Given the description of an element on the screen output the (x, y) to click on. 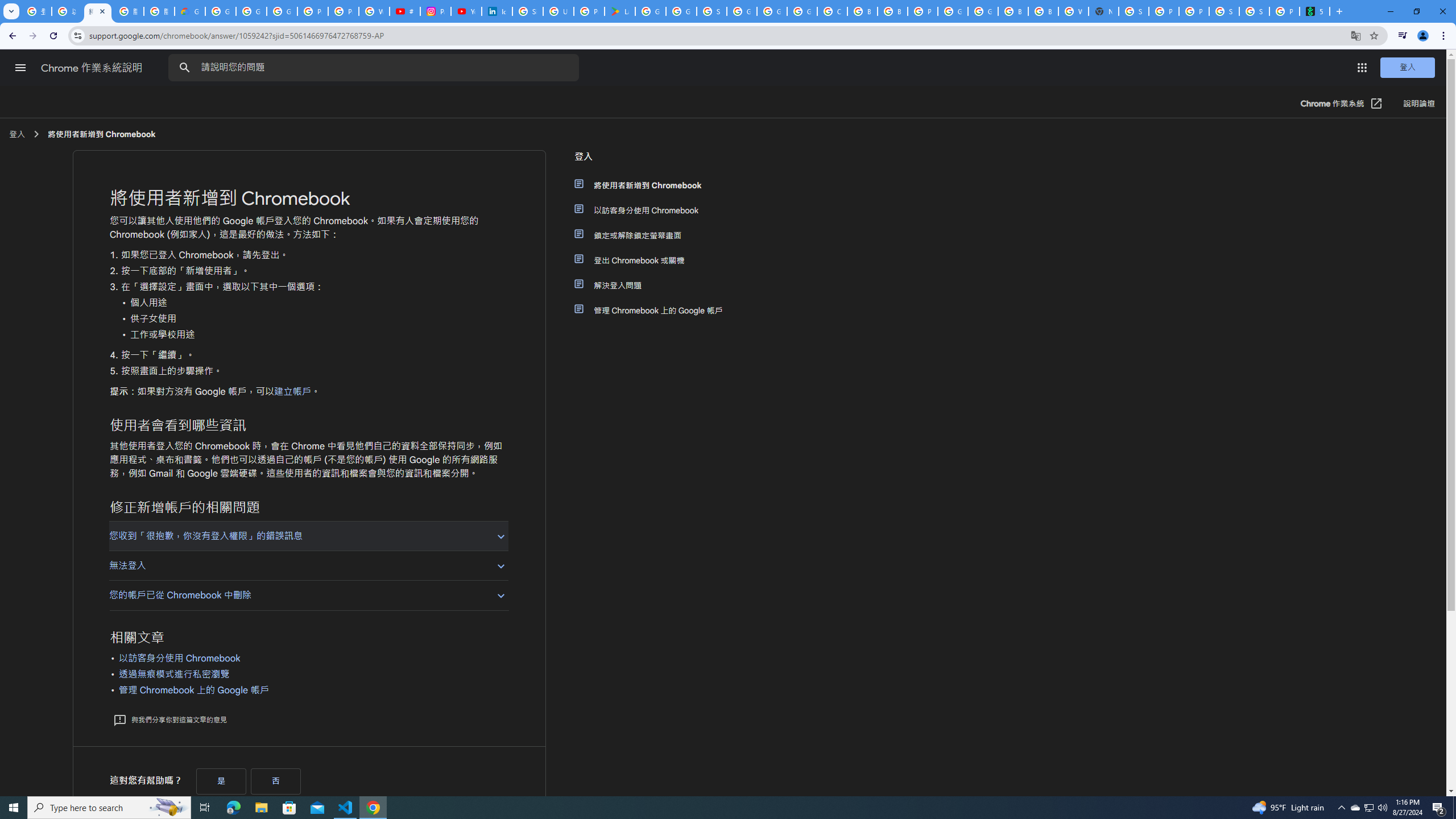
Restore (1416, 11)
Sign in - Google Accounts (711, 11)
Close (102, 11)
Back (10, 35)
Browse Chrome as a guest - Computer - Google Chrome Help (1042, 11)
